Given the description of an element on the screen output the (x, y) to click on. 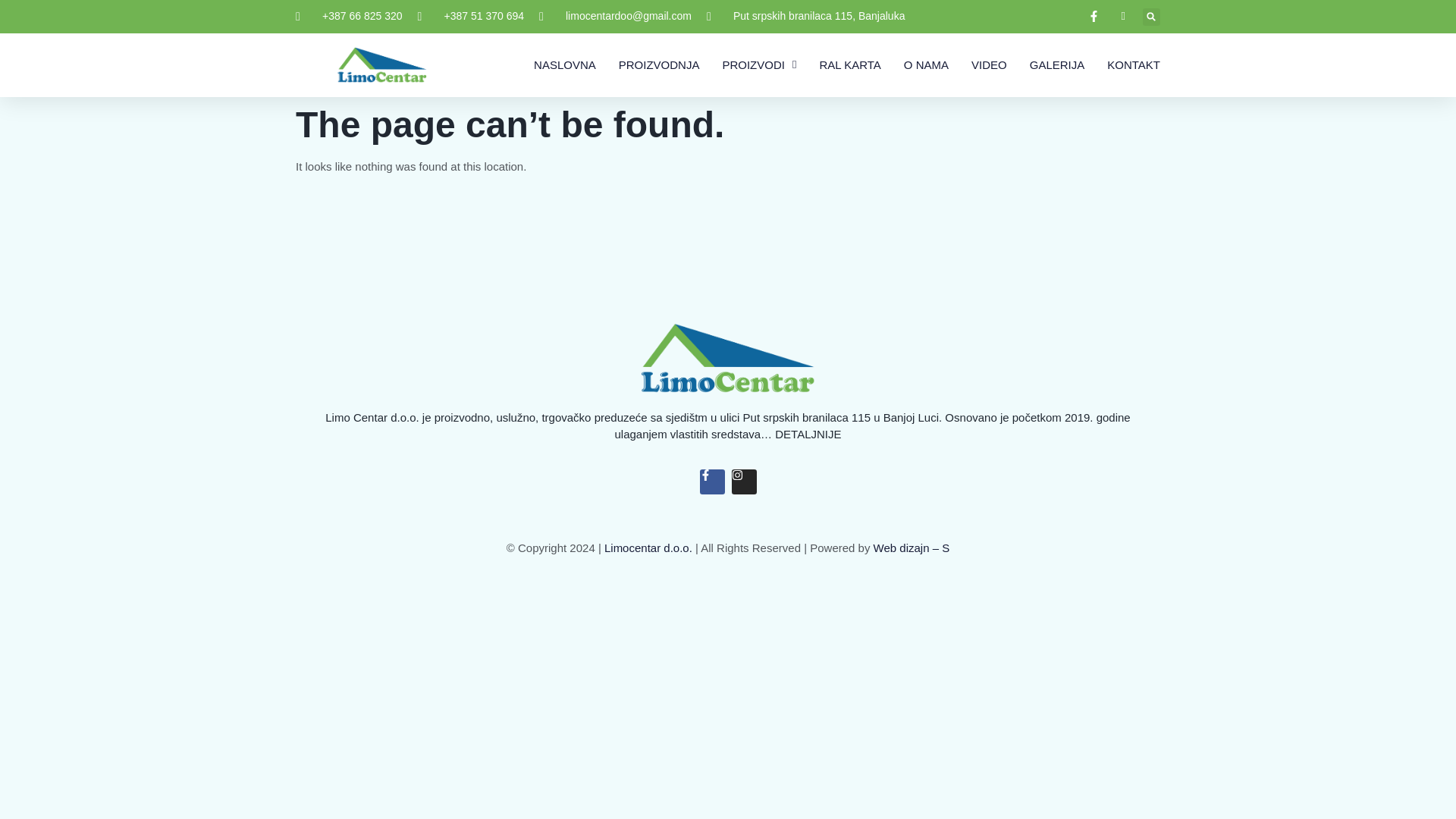
NASLOVNA (564, 64)
RAL KARTA (849, 64)
PROIZVODNJA (659, 64)
O NAMA (926, 64)
GALERIJA (1056, 64)
VIDEO (989, 64)
Put srpskih branilaca 115, Banjaluka (805, 16)
PROIZVODI (759, 64)
KONTAKT (1133, 64)
